Given the description of an element on the screen output the (x, y) to click on. 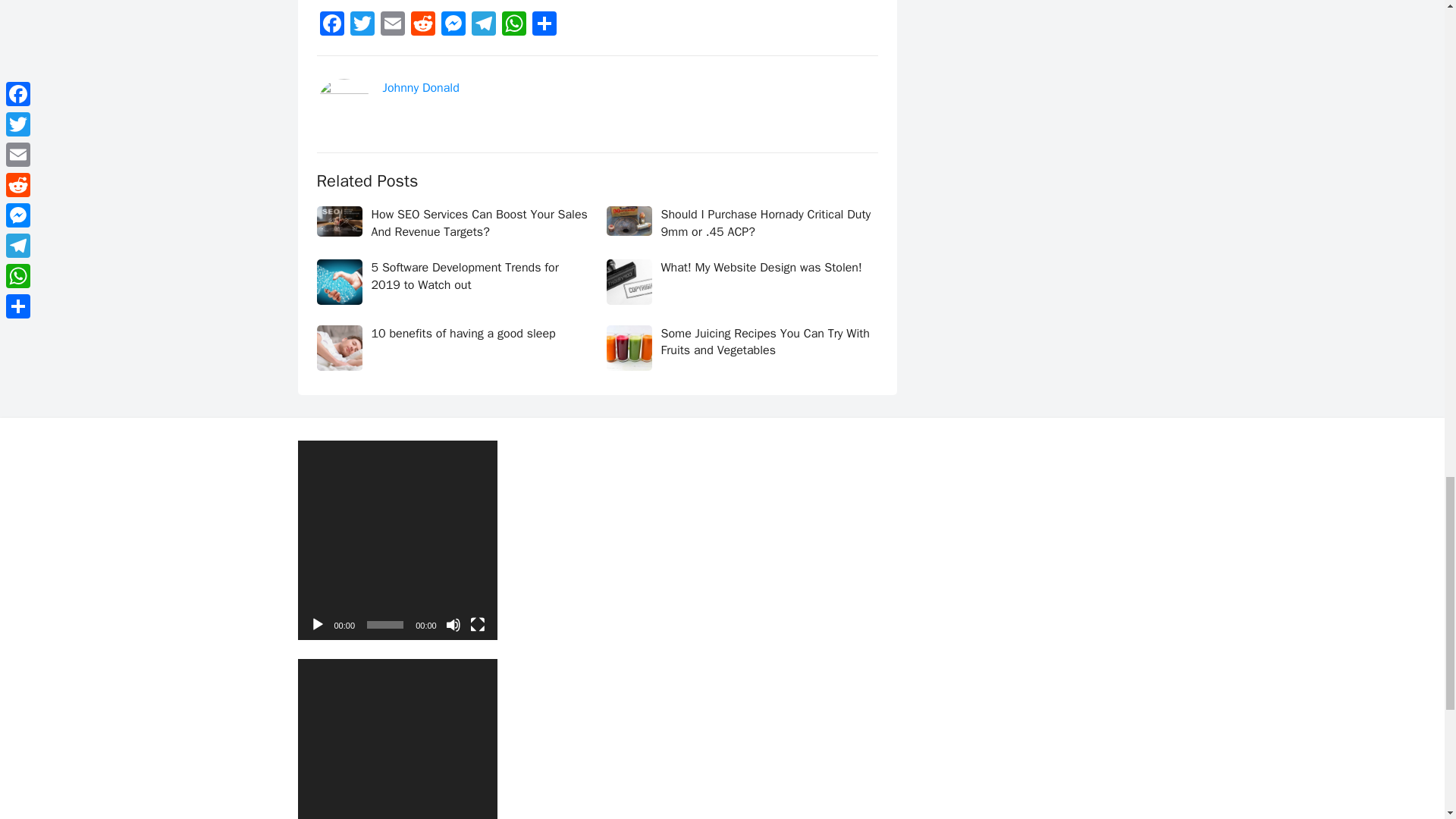
WhatsApp (514, 25)
Johnny Donald (419, 87)
Facebook (332, 25)
Twitter (362, 25)
5 Software Development Trends for 2019 to Watch out (465, 275)
Reddit (422, 25)
Messenger (453, 25)
What! My Website Design was Stolen! (761, 267)
Mute (453, 624)
Share (544, 25)
10 benefits of having a good sleep (463, 333)
Play (316, 624)
Some Juicing Recipes You Can Try With Fruits and Vegetables (765, 341)
Messenger (453, 25)
WhatsApp (514, 25)
